Given the description of an element on the screen output the (x, y) to click on. 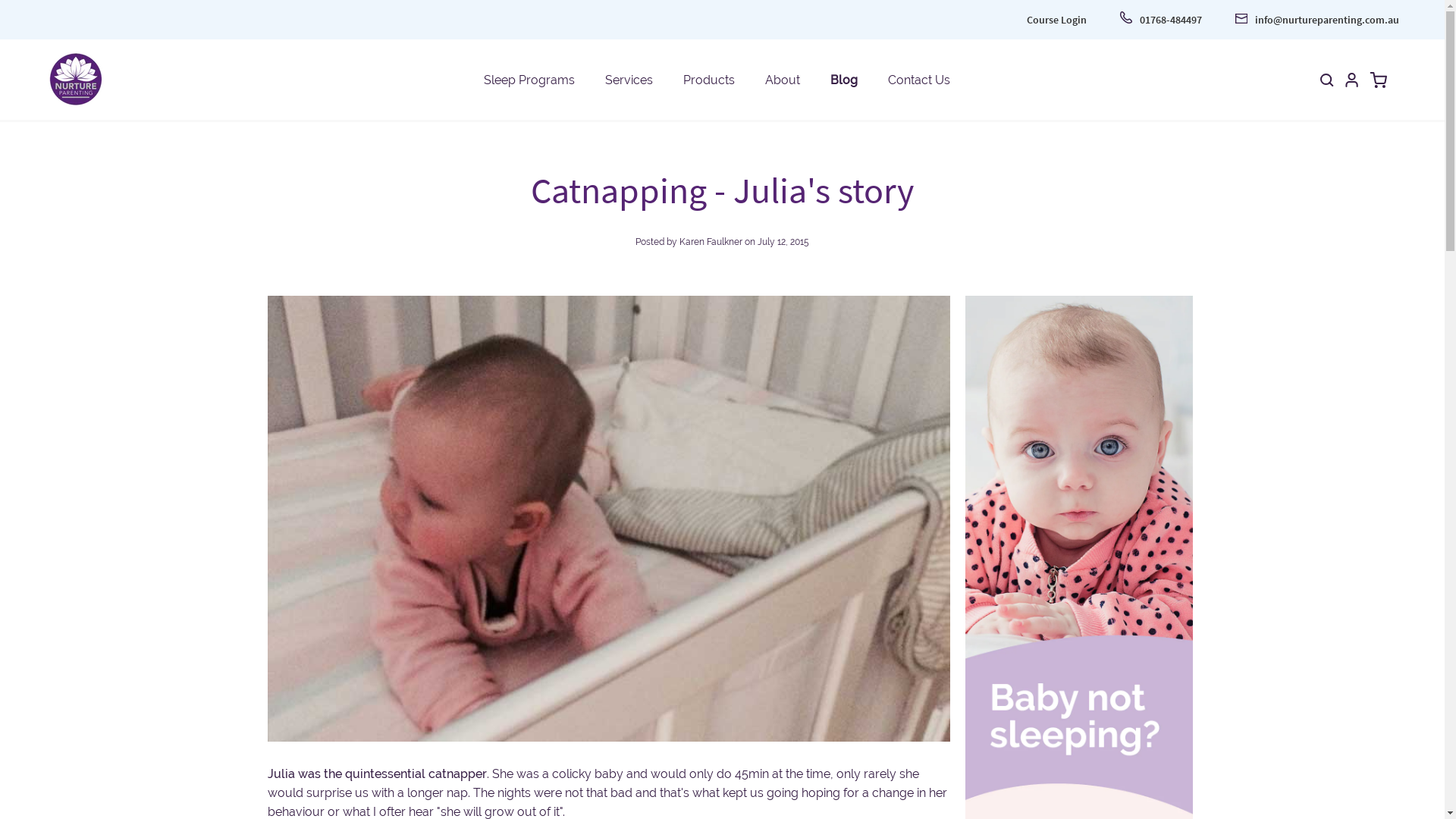
Open search bar Element type: text (1326, 79)
Blog Element type: text (842, 78)
My Account Element type: text (1351, 79)
Products Element type: text (708, 78)
01768-484497 Element type: text (1160, 19)
Course Login Element type: text (1056, 20)
info@nurtureparenting.com.au Element type: text (1317, 20)
Sleep Programs Element type: text (528, 78)
Open cart Element type: text (1378, 79)
Contact Us Element type: text (918, 78)
About Element type: text (781, 78)
Services Element type: text (628, 78)
